Given the description of an element on the screen output the (x, y) to click on. 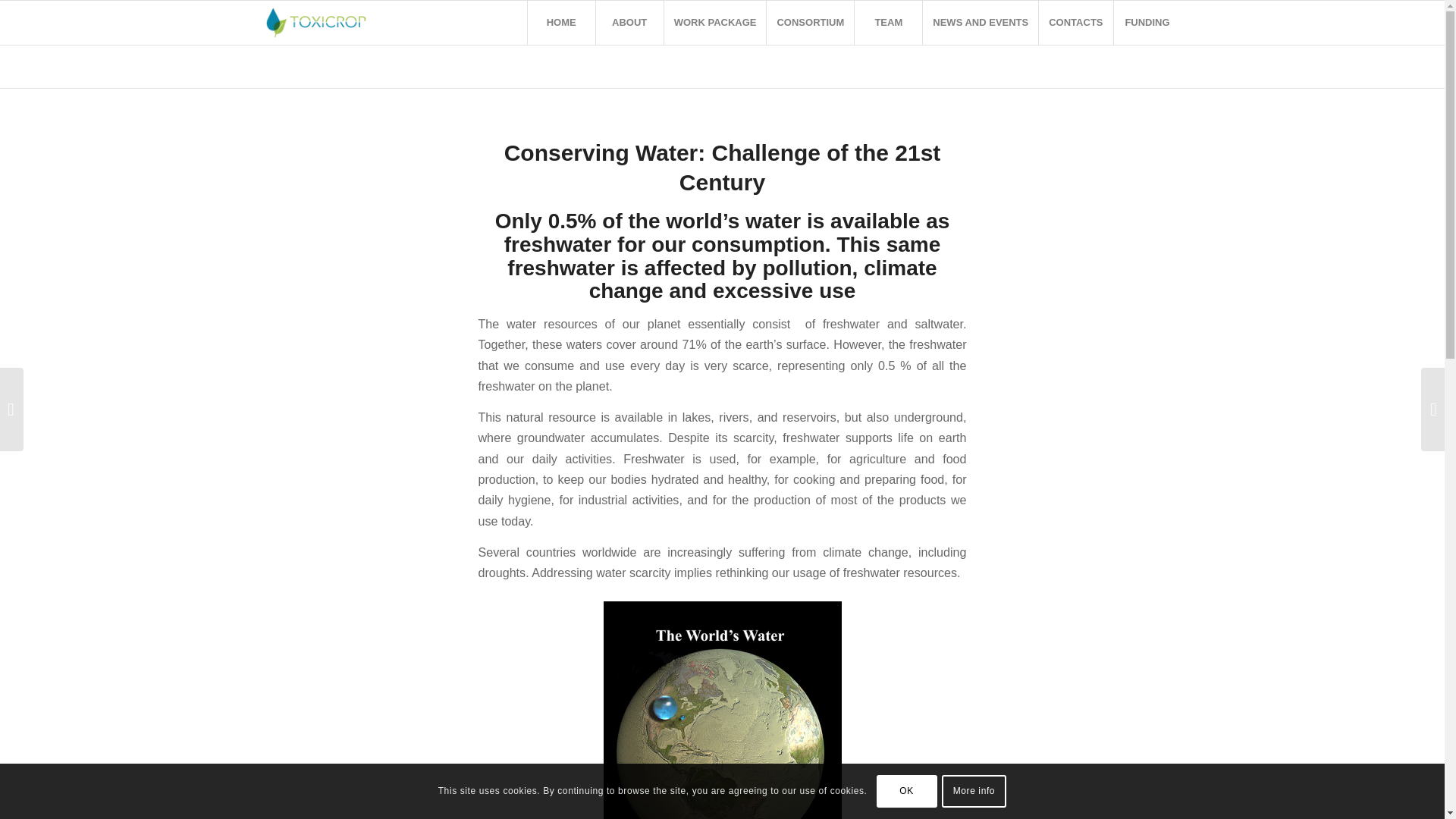
CONSORTIUM (809, 22)
ABOUT (629, 22)
HOME (561, 22)
OK (906, 790)
More info (974, 790)
Conserving Water: Challenge of the 21st Century (721, 167)
CONTACTS (1075, 22)
WORK PACKAGE (715, 22)
NEWS AND EVENTS (979, 22)
TEAM (887, 22)
FUNDING (1146, 22)
